Given the description of an element on the screen output the (x, y) to click on. 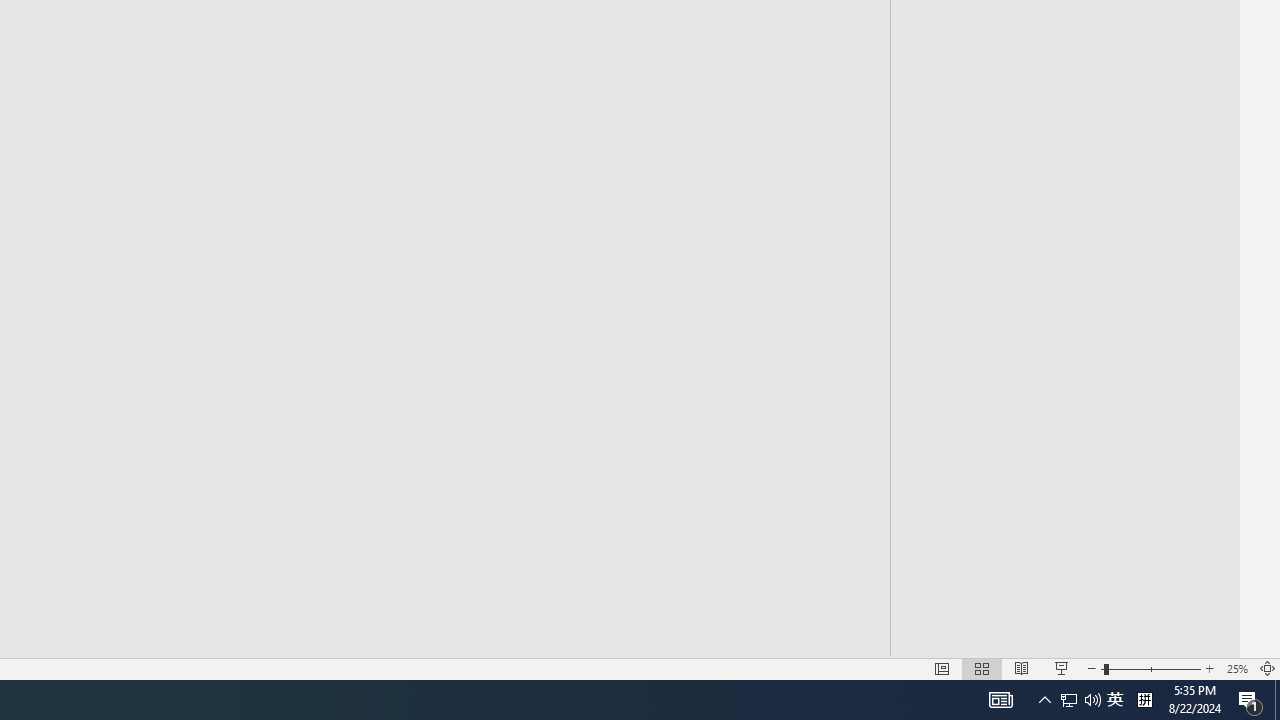
Zoom 25% (1236, 668)
